Given the description of an element on the screen output the (x, y) to click on. 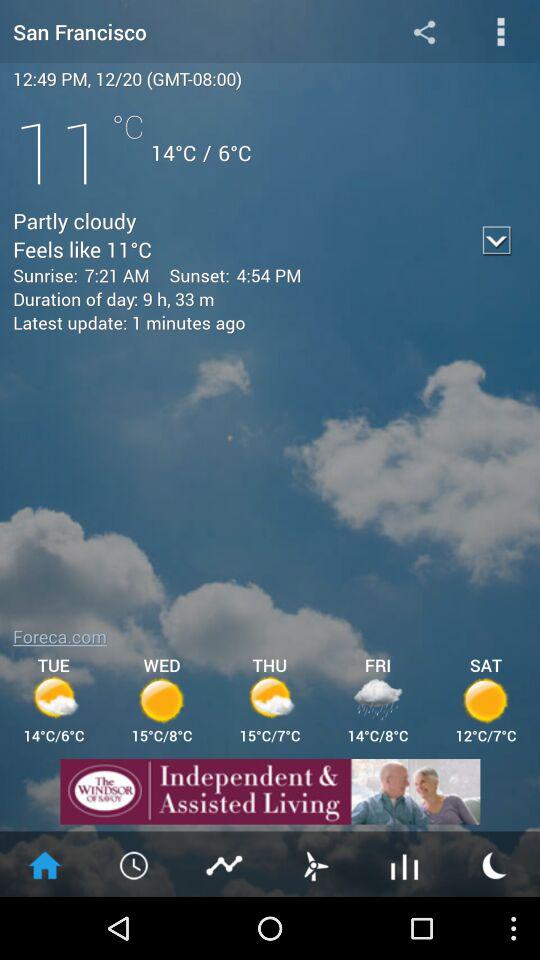
share (424, 31)
